Given the description of an element on the screen output the (x, y) to click on. 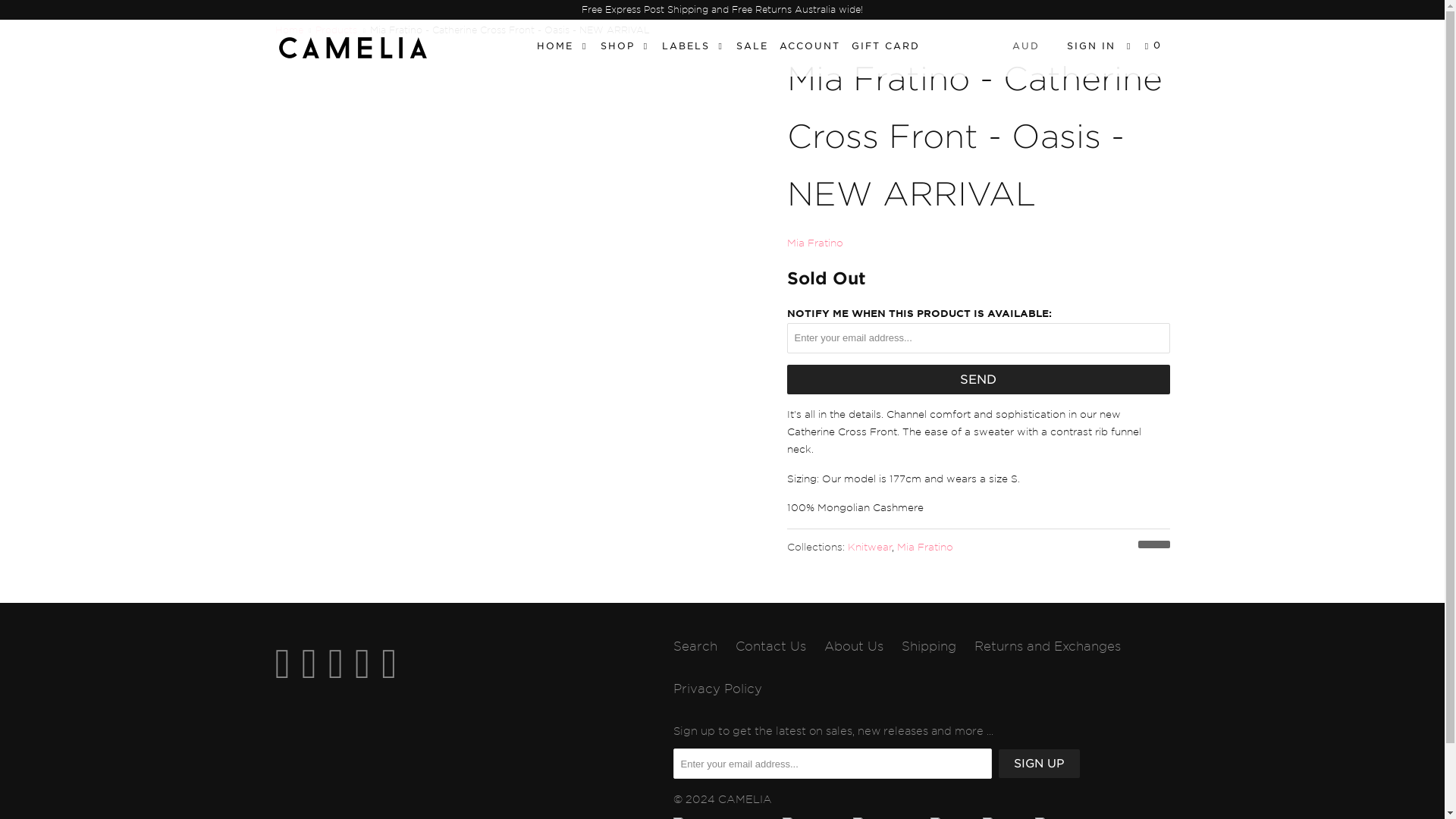
Products (335, 30)
Send (978, 378)
CAMELIA (352, 47)
Sign Up (1037, 763)
Mia Fratino (815, 242)
Mia Fratino (924, 546)
My Account  (1091, 46)
Knitwear (869, 546)
CAMELIA (288, 30)
